Given the description of an element on the screen output the (x, y) to click on. 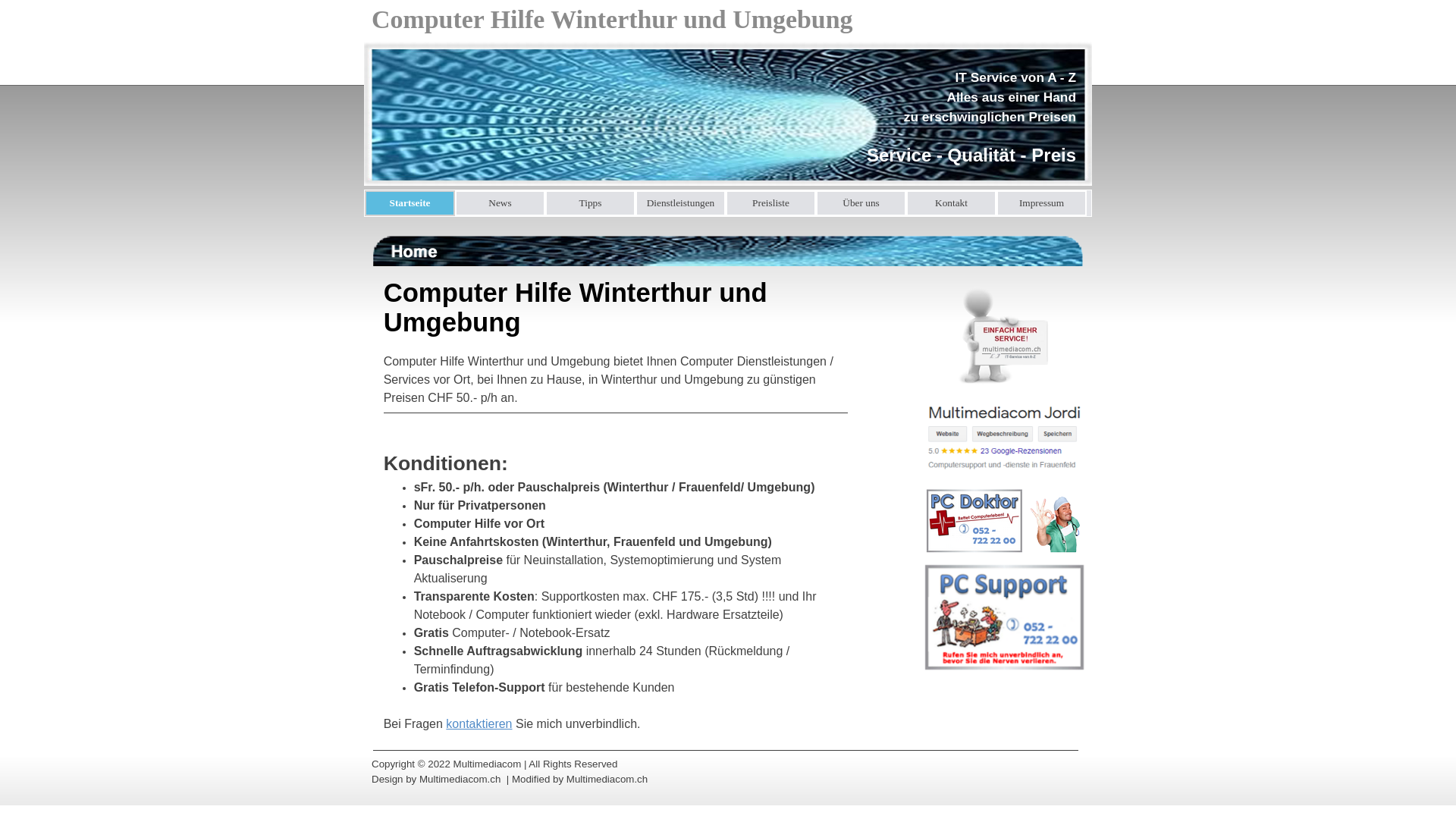
PC Hilfe Doktor Multimediacom Jordi Element type: hover (1004, 521)
PC Support Multimediacom Jordi Element type: hover (1004, 616)
Tipps Element type: text (590, 202)
Impressum Element type: text (1041, 202)
News Element type: text (500, 202)
Dienstleistungen Element type: text (680, 202)
Google Rezension Computer Hilfe Element type: hover (1004, 435)
Startseite Element type: text (409, 202)
Kontakt Element type: text (951, 202)
kontaktieren Element type: text (478, 723)
Webseite von PC Doktor Multimediacom Jordi Element type: hover (1003, 335)
